Given the description of an element on the screen output the (x, y) to click on. 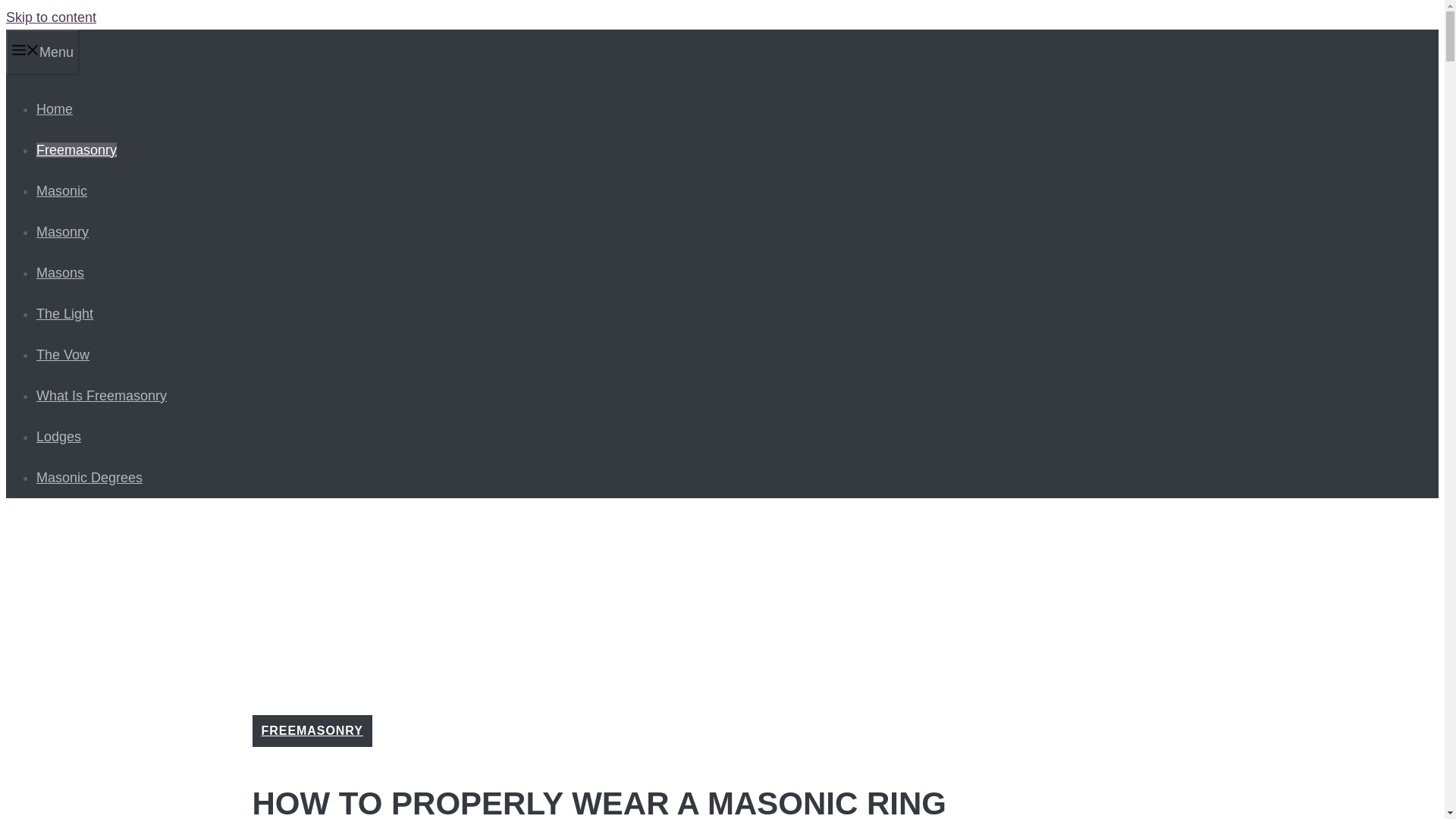
Skip to content (50, 17)
FREEMASONRY (311, 730)
Skip to content (50, 17)
The Vow (62, 354)
Menu (42, 52)
Masonic (61, 191)
Home (54, 109)
Masons (60, 272)
Masonry (62, 231)
Freemasonry (76, 150)
Masonic Degrees (89, 477)
The Light (64, 313)
Lodges (58, 436)
What Is Freemasonry (101, 395)
